Given the description of an element on the screen output the (x, y) to click on. 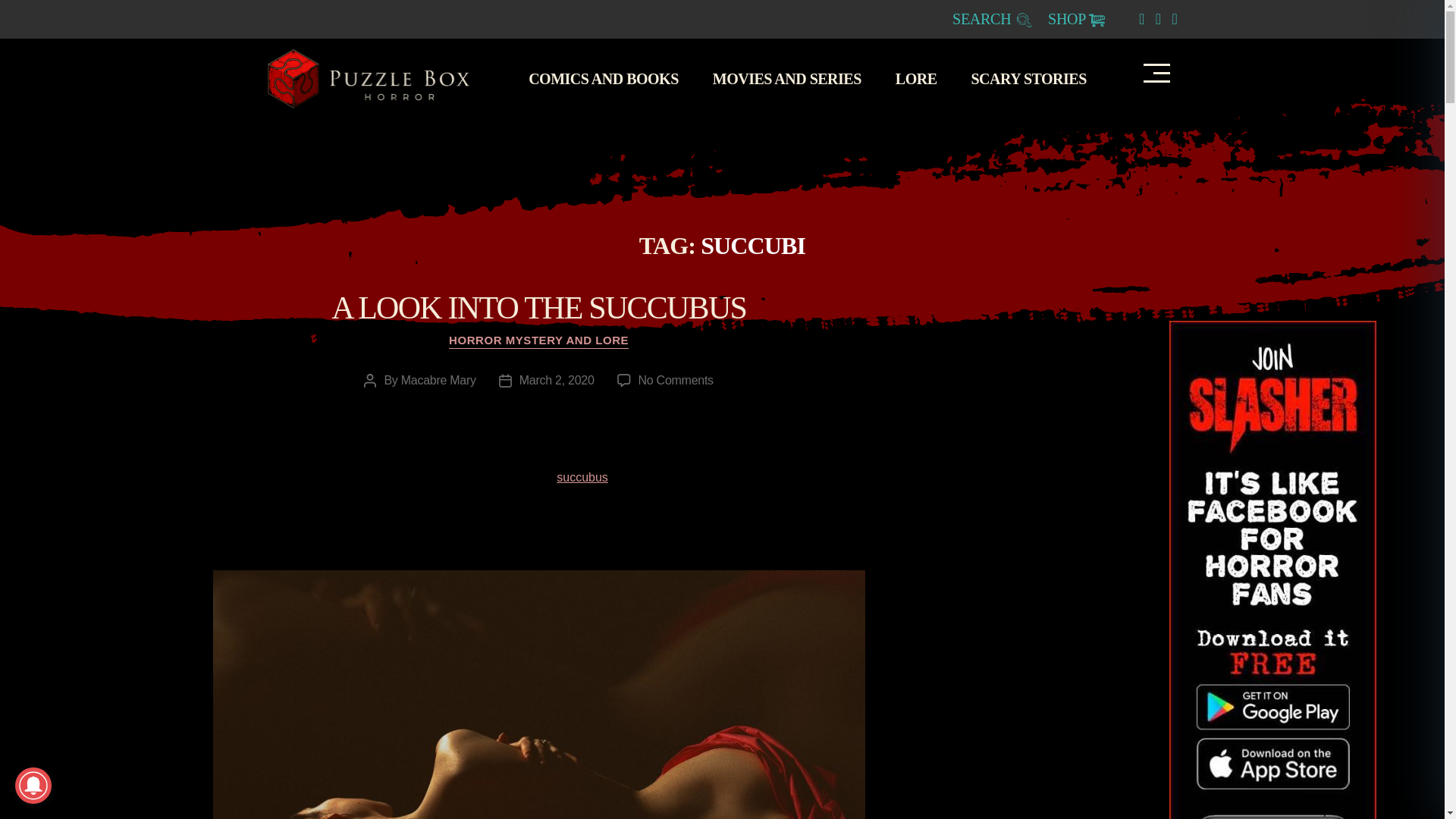
COMICS AND BOOKS (611, 78)
MOVIES AND SERIES (794, 78)
SHOP (1076, 18)
LORE (923, 78)
SEARCH (992, 18)
SCARY STORIES (1035, 78)
